Given the description of an element on the screen output the (x, y) to click on. 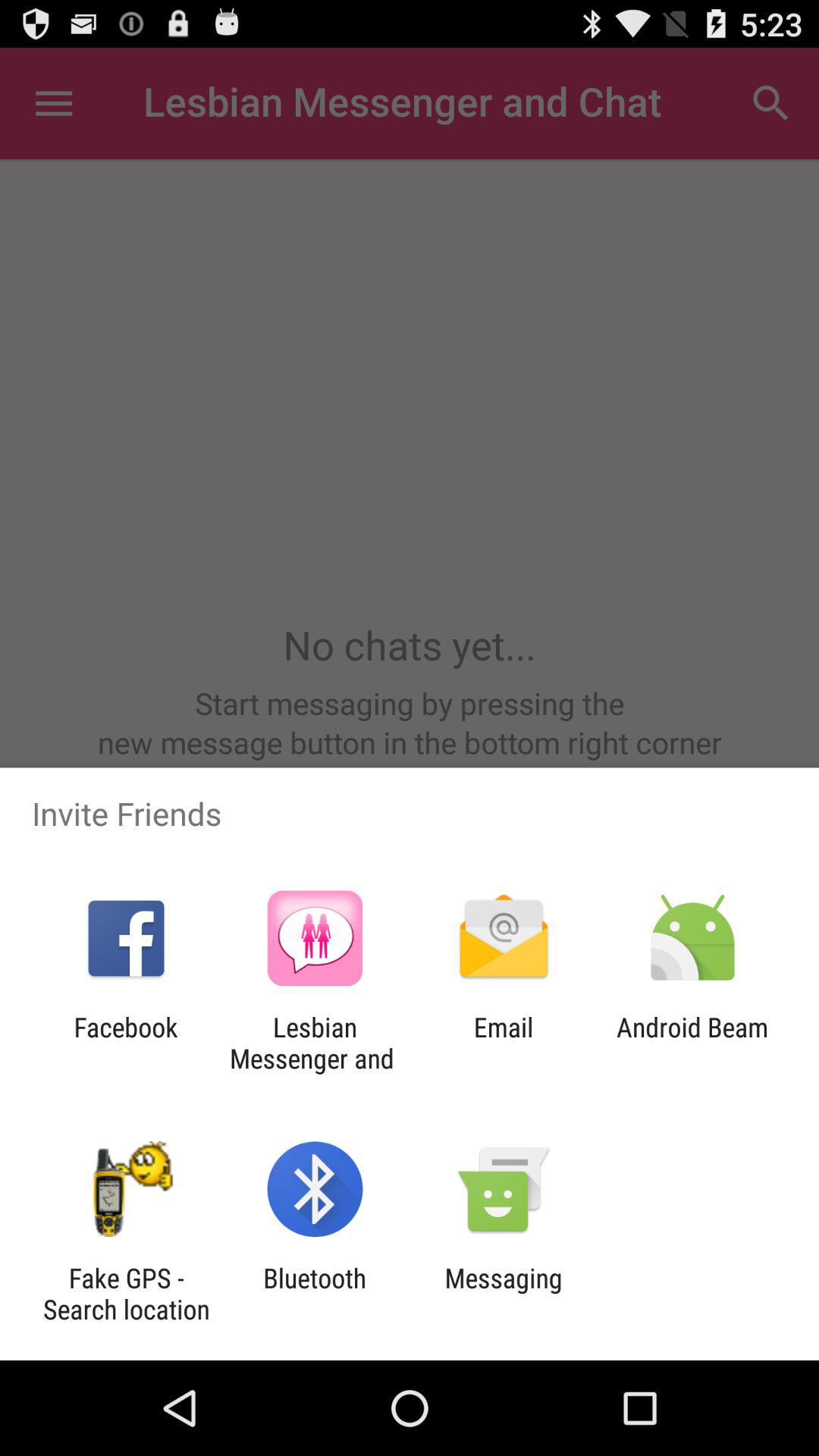
press app to the left of the messaging icon (314, 1293)
